Given the description of an element on the screen output the (x, y) to click on. 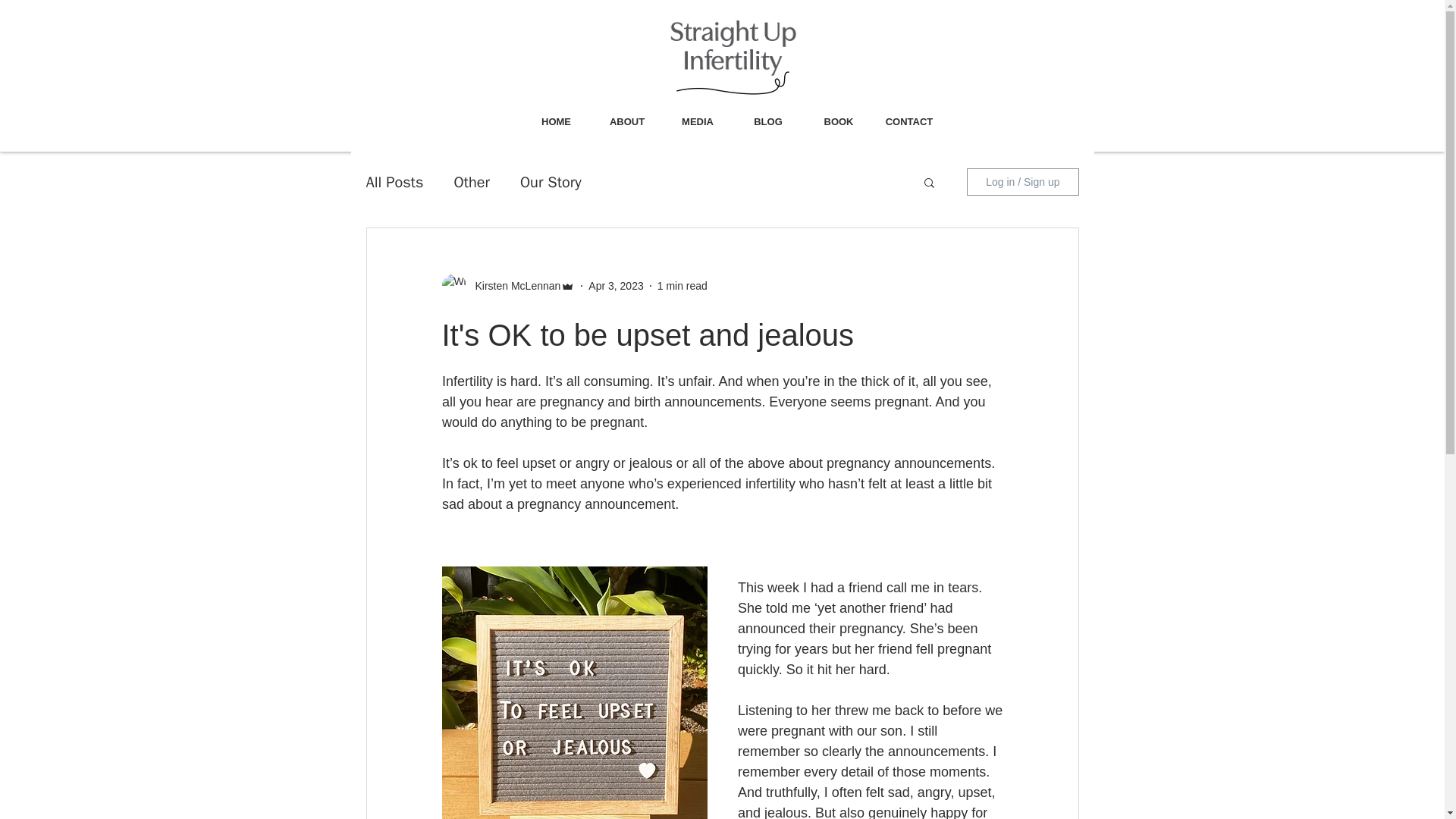
Our Story (549, 181)
CONTACT (908, 122)
ABOUT (626, 122)
Kirsten McLennan (512, 285)
1 min read (682, 285)
BLOG (767, 122)
BOOK (839, 122)
HOME (555, 122)
Apr 3, 2023 (615, 285)
All Posts (394, 181)
MEDIA (697, 122)
Other (470, 181)
